Given the description of an element on the screen output the (x, y) to click on. 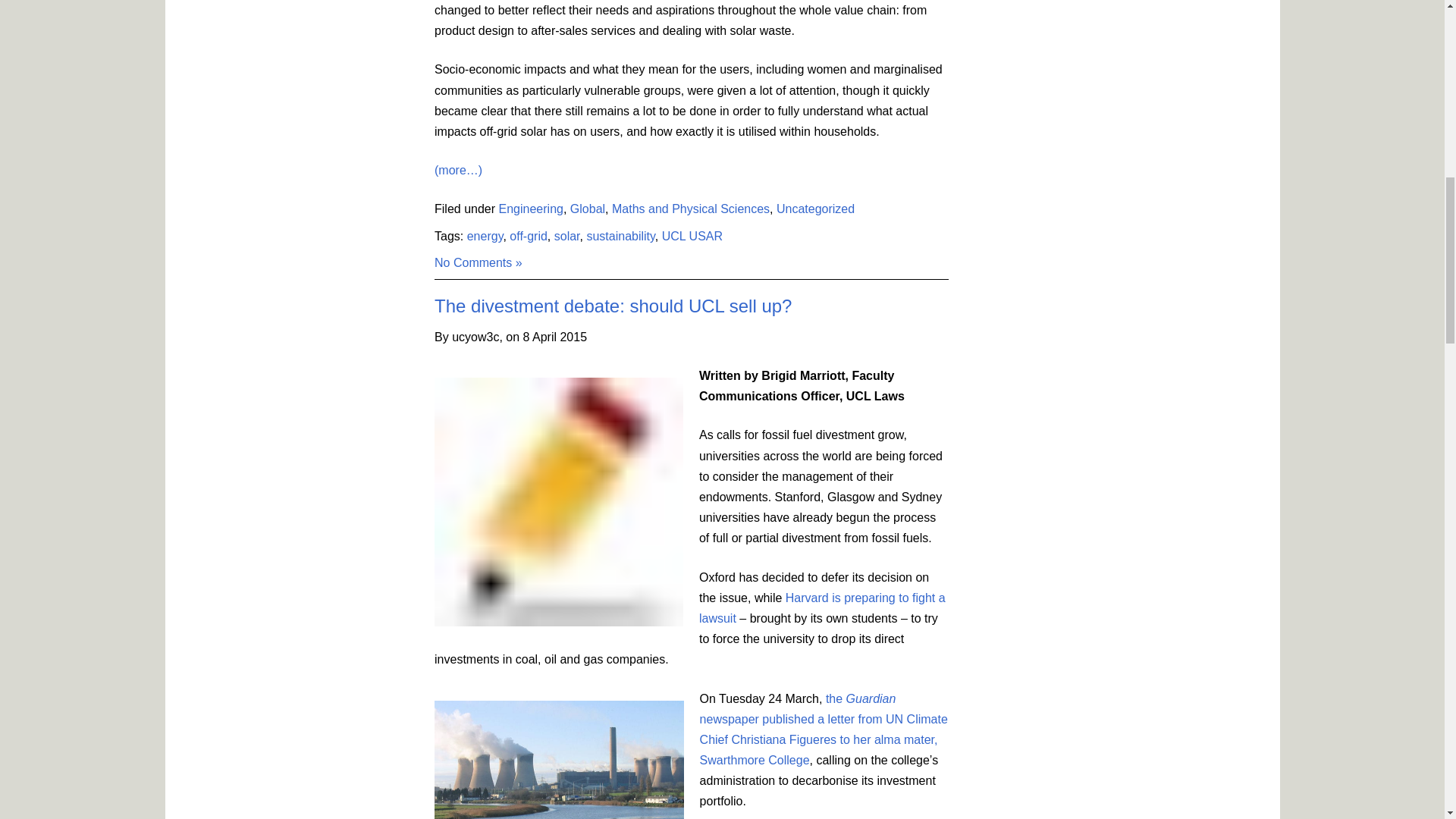
Maths and Physical Sciences (690, 208)
Global (587, 208)
UCL USAR (692, 235)
Permanent Link to The divestment debate: should UCL sell up? (612, 305)
sustainability (619, 235)
off-grid (528, 235)
Uncategorized (815, 208)
Engineering (531, 208)
solar (566, 235)
Harvard is preparing to fight a lawsuit (821, 607)
The divestment debate: should UCL sell up? (612, 305)
energy (485, 235)
